Given the description of an element on the screen output the (x, y) to click on. 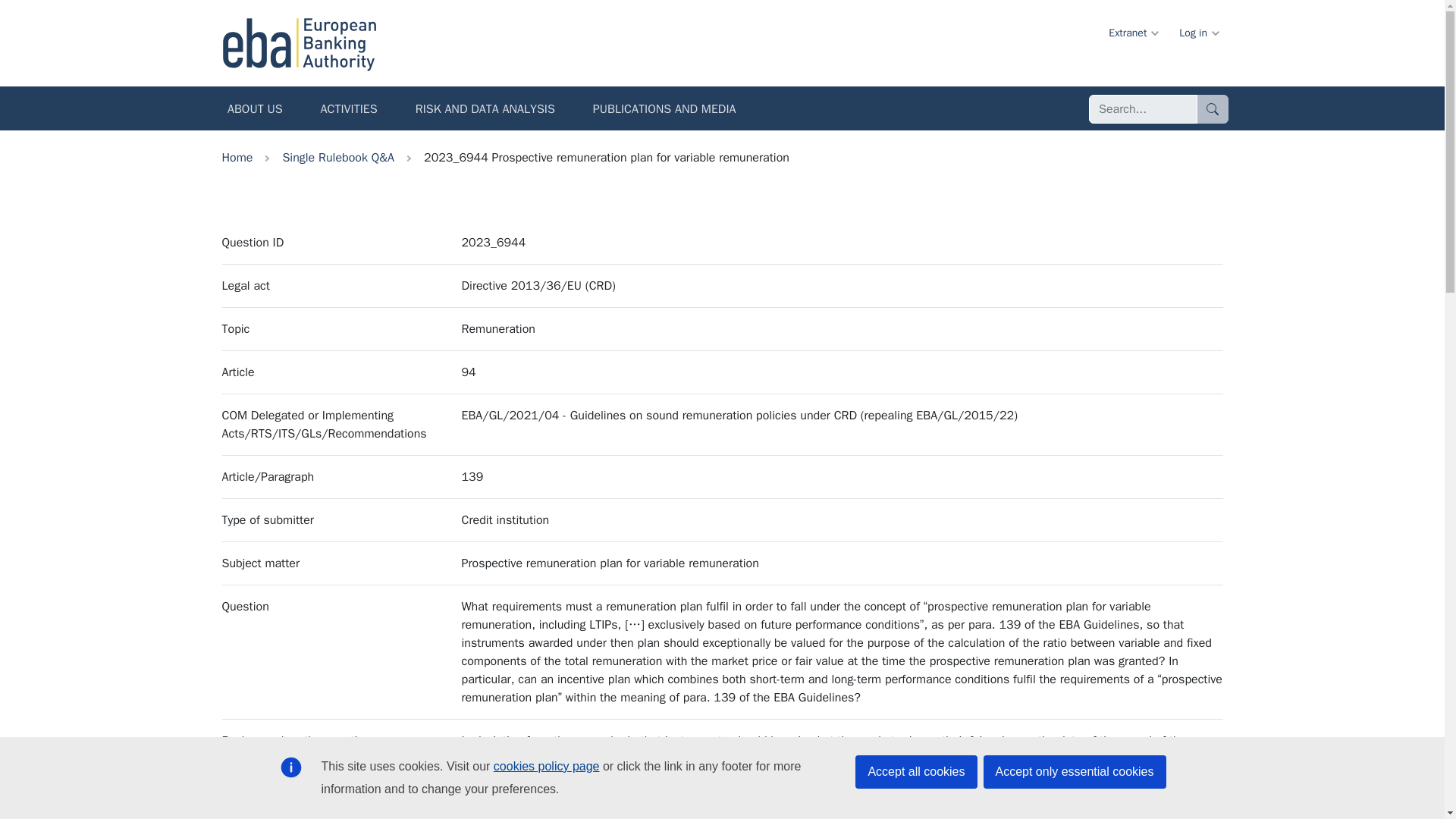
Log in (1197, 32)
Enter the terms you wish to search for. (1142, 109)
ACTIVITIES (348, 111)
Accept only essential cookies (1074, 771)
ABOUT US (254, 111)
Accept all cookies (916, 771)
cookies policy page (546, 766)
Extranet (1132, 32)
